Given the description of an element on the screen output the (x, y) to click on. 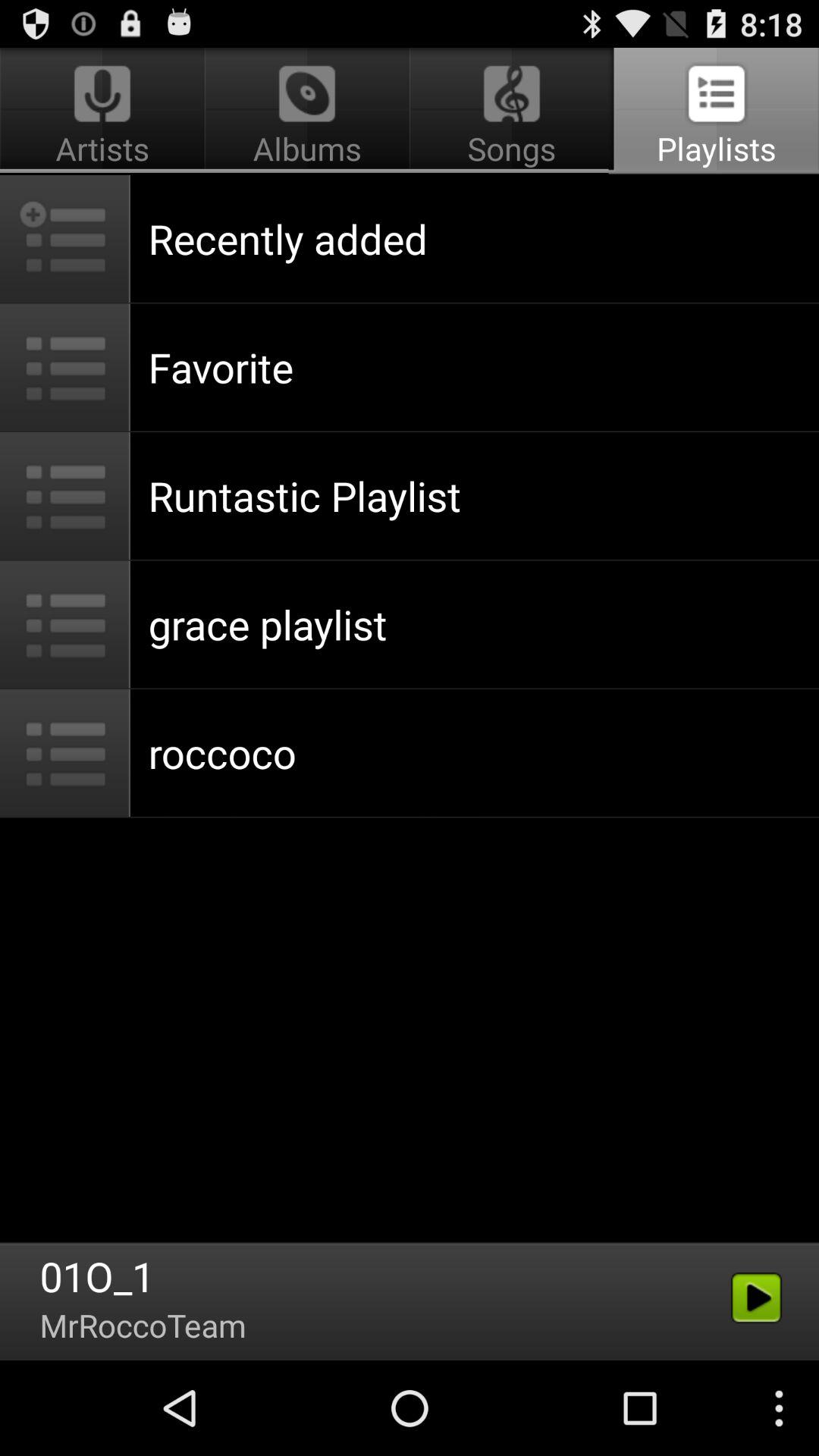
press app above recently added icon (713, 111)
